Given the description of an element on the screen output the (x, y) to click on. 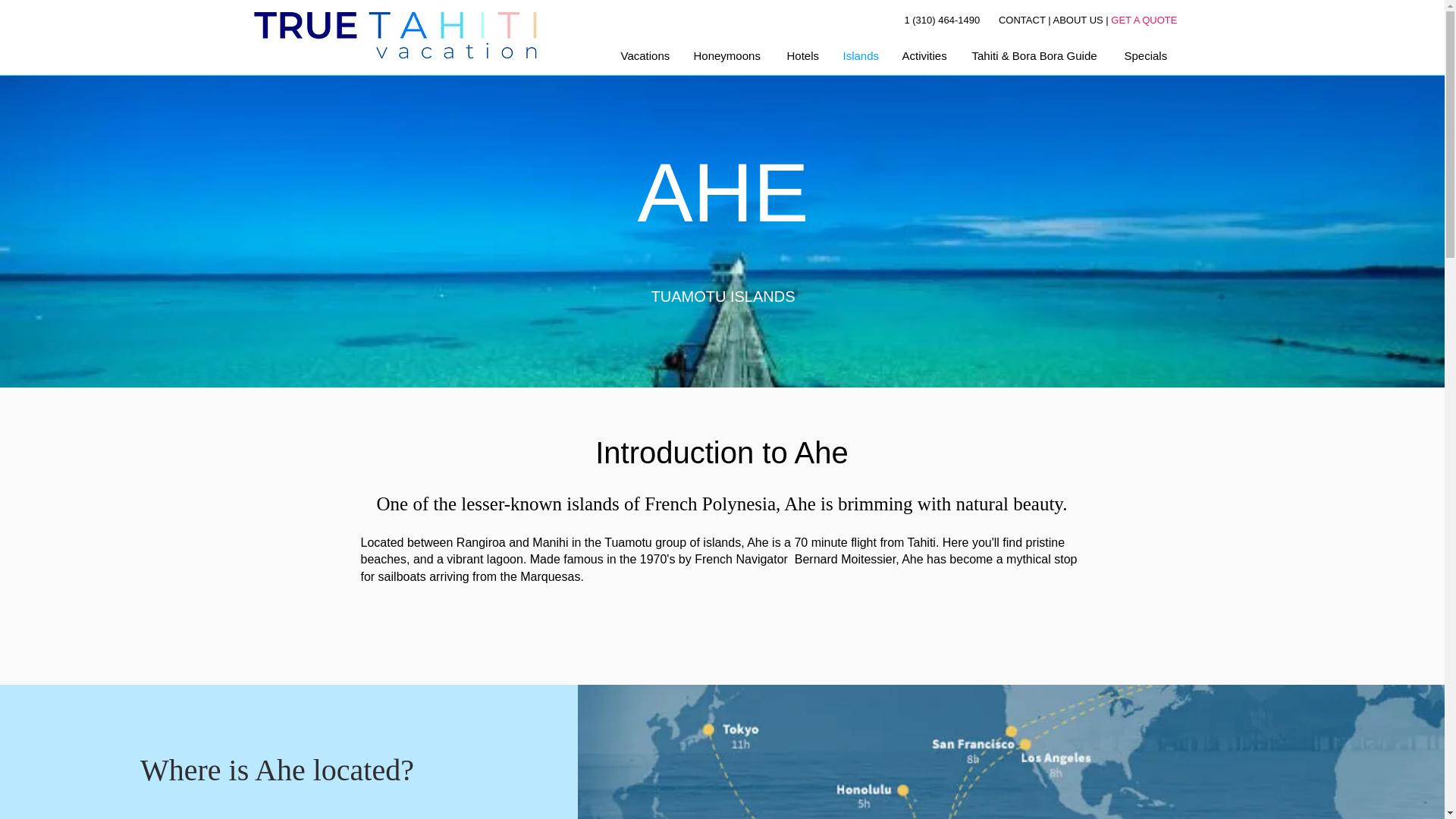
ABOUT US (1077, 19)
CONTACT (1021, 19)
True Tahiti Vacation (395, 37)
Vacations (646, 55)
Hotels (802, 55)
Islands (860, 55)
Honeymoons (729, 55)
GET A QUOTE (1143, 19)
